Given the description of an element on the screen output the (x, y) to click on. 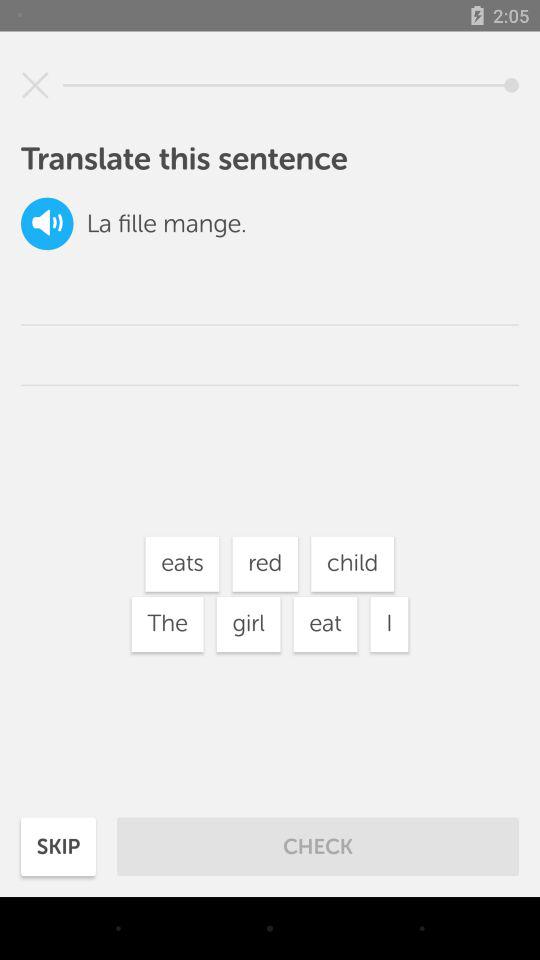
scroll until the red icon (265, 563)
